Given the description of an element on the screen output the (x, y) to click on. 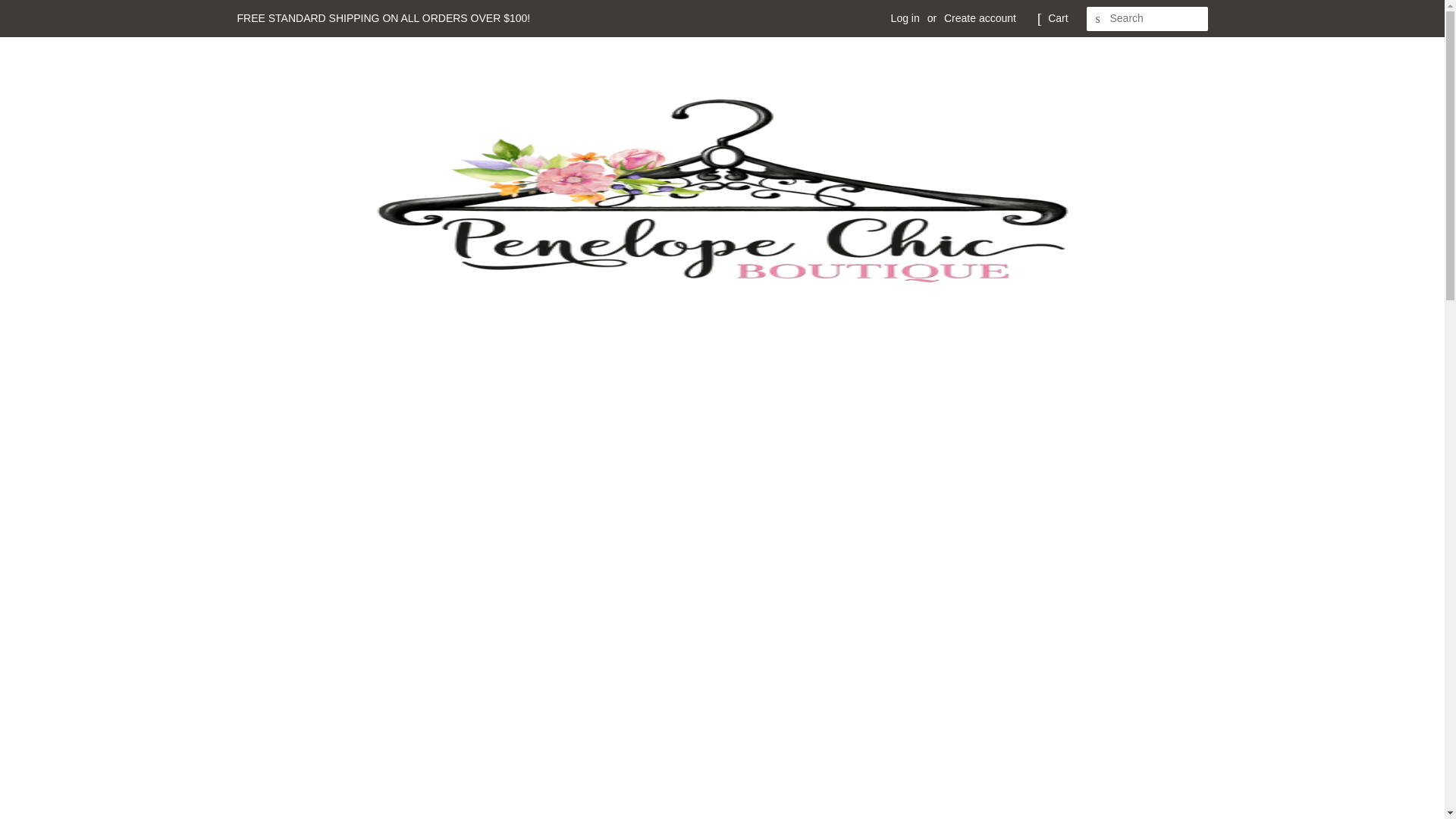
Log in (905, 18)
SEARCH (1097, 18)
Cart (1057, 18)
Create account (979, 18)
